Given the description of an element on the screen output the (x, y) to click on. 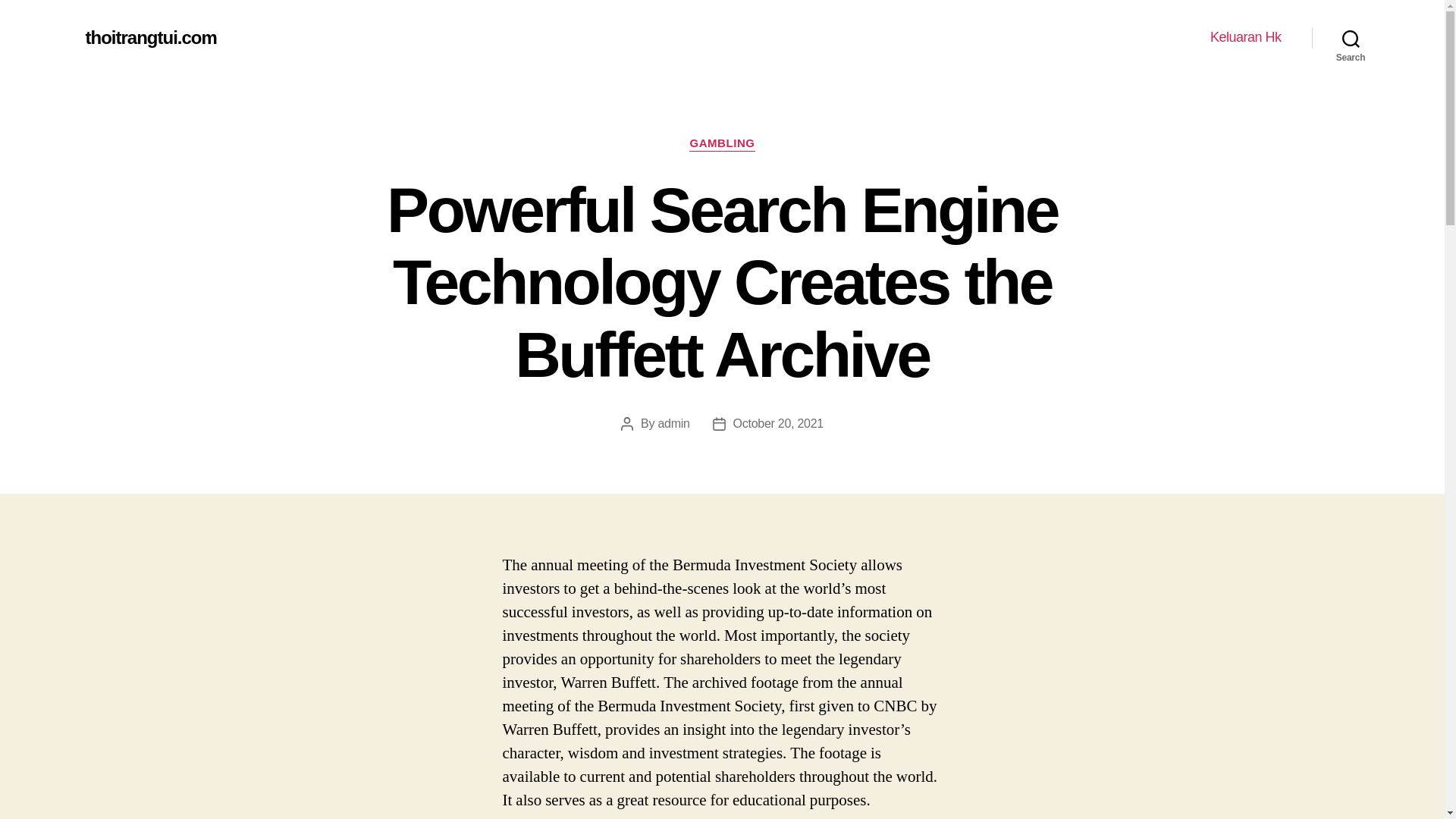
Search (1350, 37)
admin (673, 422)
GAMBLING (721, 143)
thoitrangtui.com (149, 37)
Keluaran Hk (1245, 37)
October 20, 2021 (778, 422)
